Given the description of an element on the screen output the (x, y) to click on. 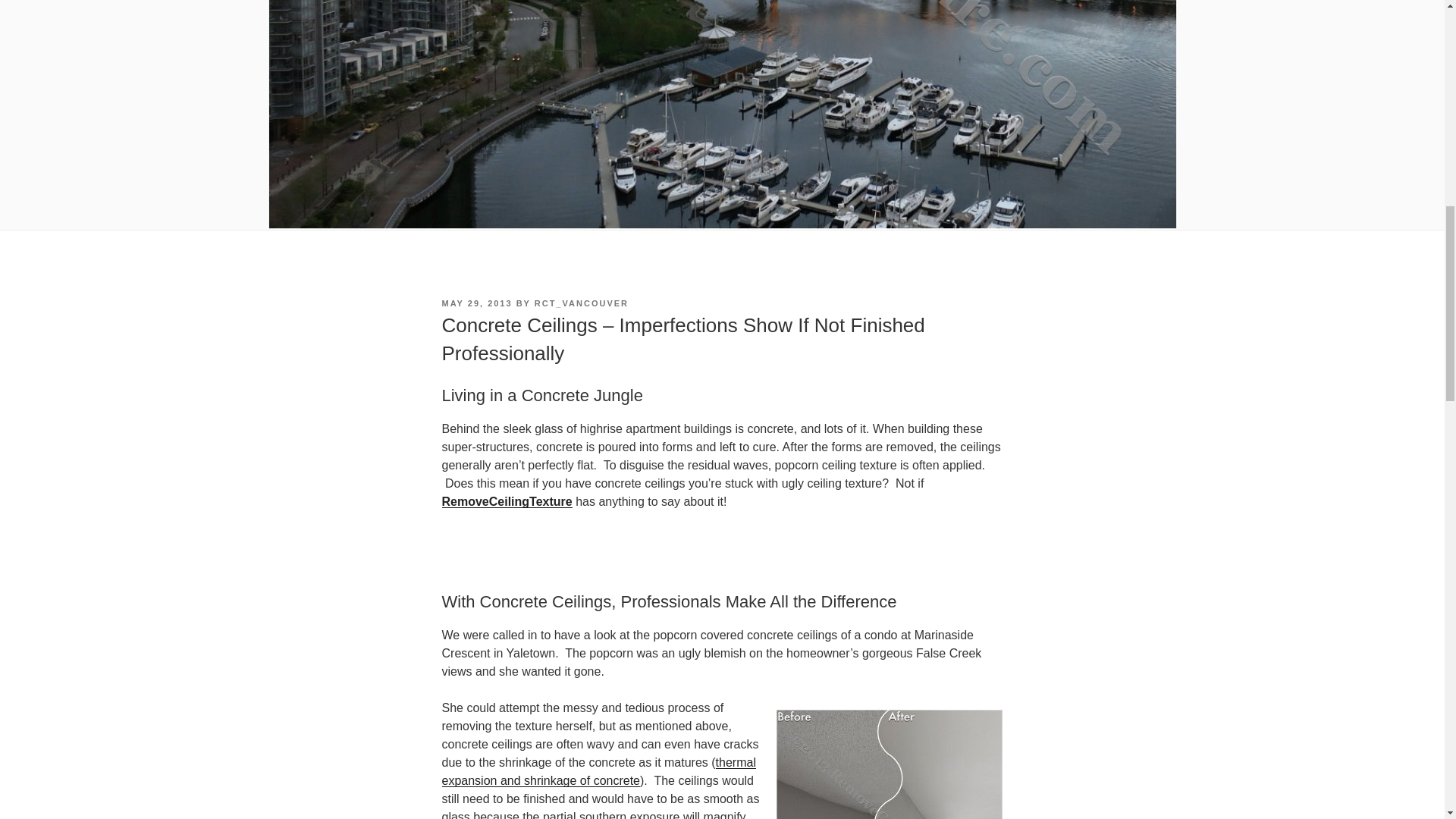
MAY 29, 2013 (476, 302)
RemoveCeilingTexture (506, 501)
Tell us about your concrete ceilings! (506, 501)
thermal expansion and shrinkage of concrete (598, 771)
